Given the description of an element on the screen output the (x, y) to click on. 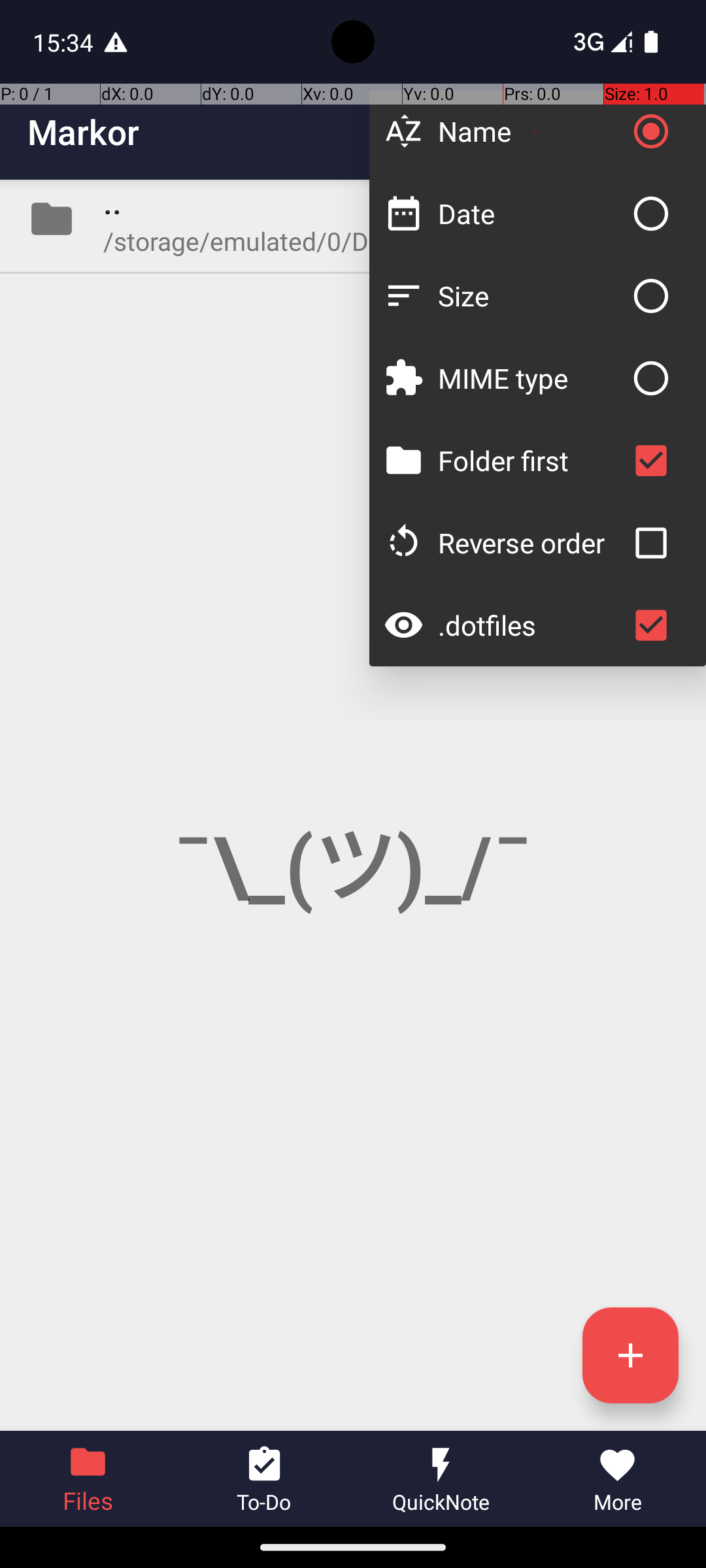
Size Element type: android.widget.TextView (530, 295)
MIME type Element type: android.widget.TextView (530, 377)
Folder first Element type: android.widget.TextView (530, 459)
Reverse order Element type: android.widget.TextView (530, 542)
.dotfiles Element type: android.widget.TextView (530, 624)
